Given the description of an element on the screen output the (x, y) to click on. 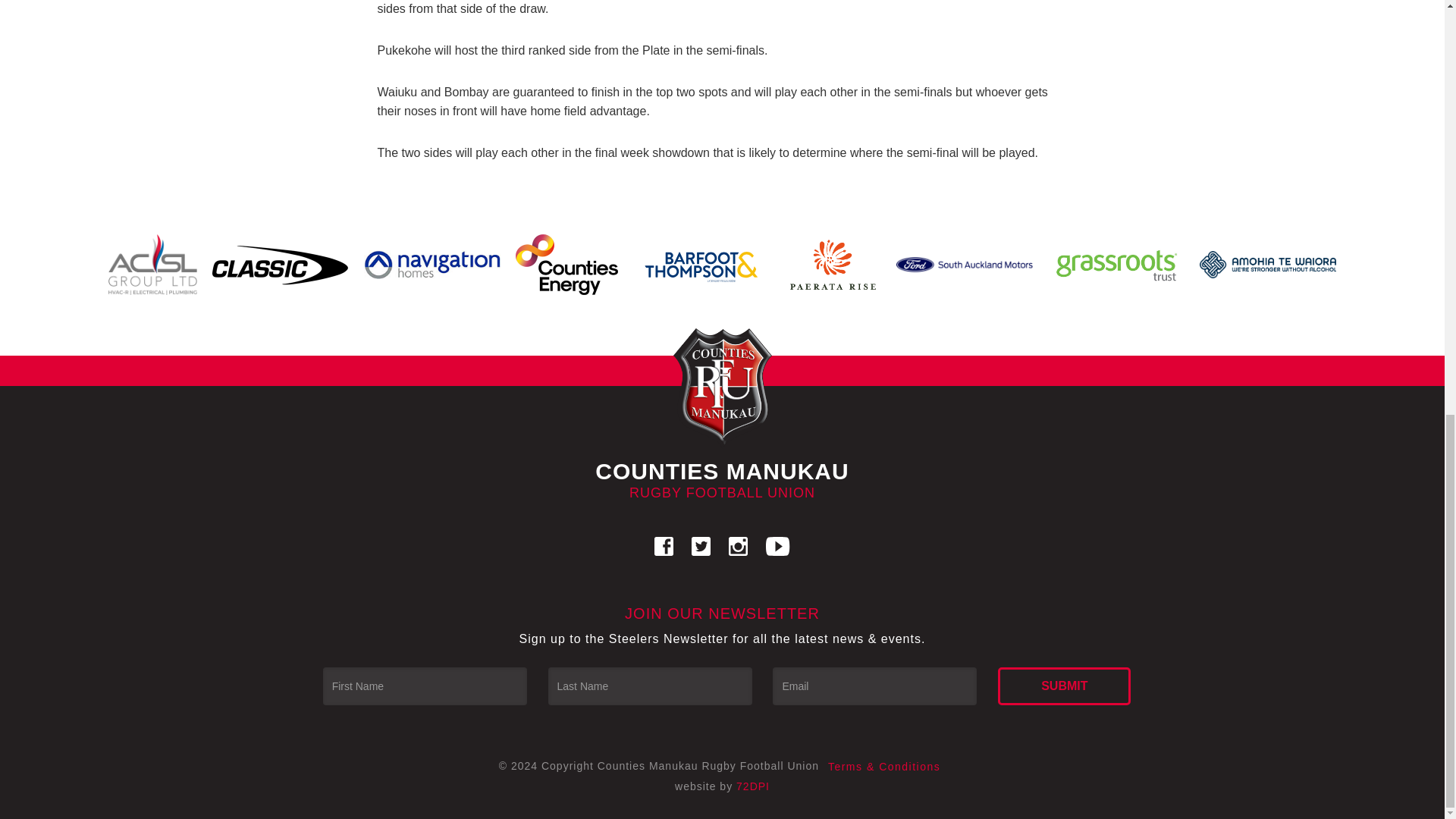
Classic Sportsware (280, 265)
amohia-te-waiora (1267, 263)
Grassroots Trust (1116, 264)
Counties Power (567, 264)
Navigational Homes (432, 264)
ACSL Group (152, 264)
South Auckland Motors (964, 263)
Paerata Rise (832, 264)
